Given the description of an element on the screen output the (x, y) to click on. 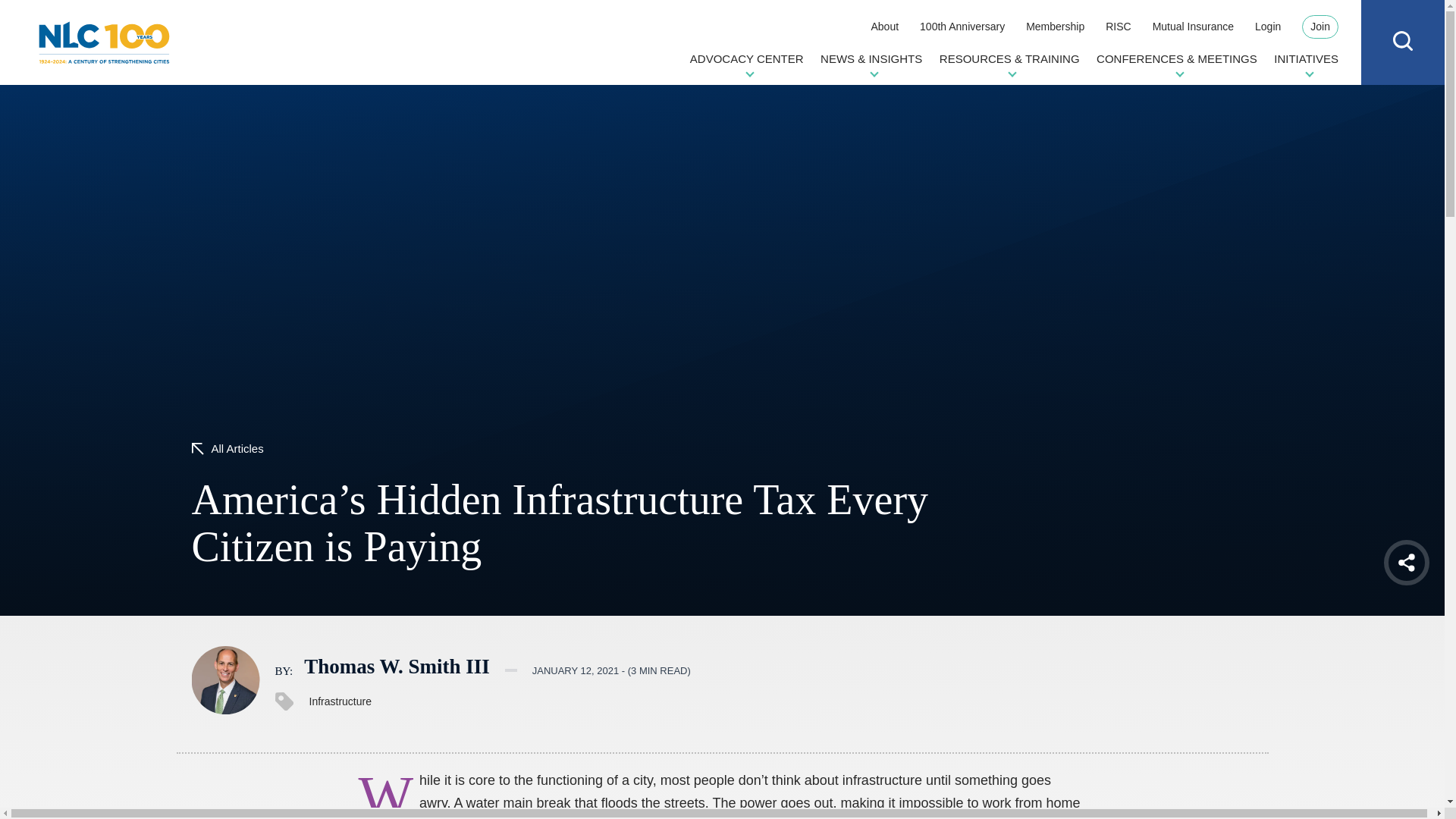
Join (1319, 26)
100th Anniversary (962, 26)
About (884, 26)
Mutual Insurance (1193, 26)
Login (1268, 26)
INITIATIVES (1306, 63)
ADVOCACY CENTER (746, 63)
Membership (1055, 26)
RISC (1118, 26)
Open search (1402, 40)
